Given the description of an element on the screen output the (x, y) to click on. 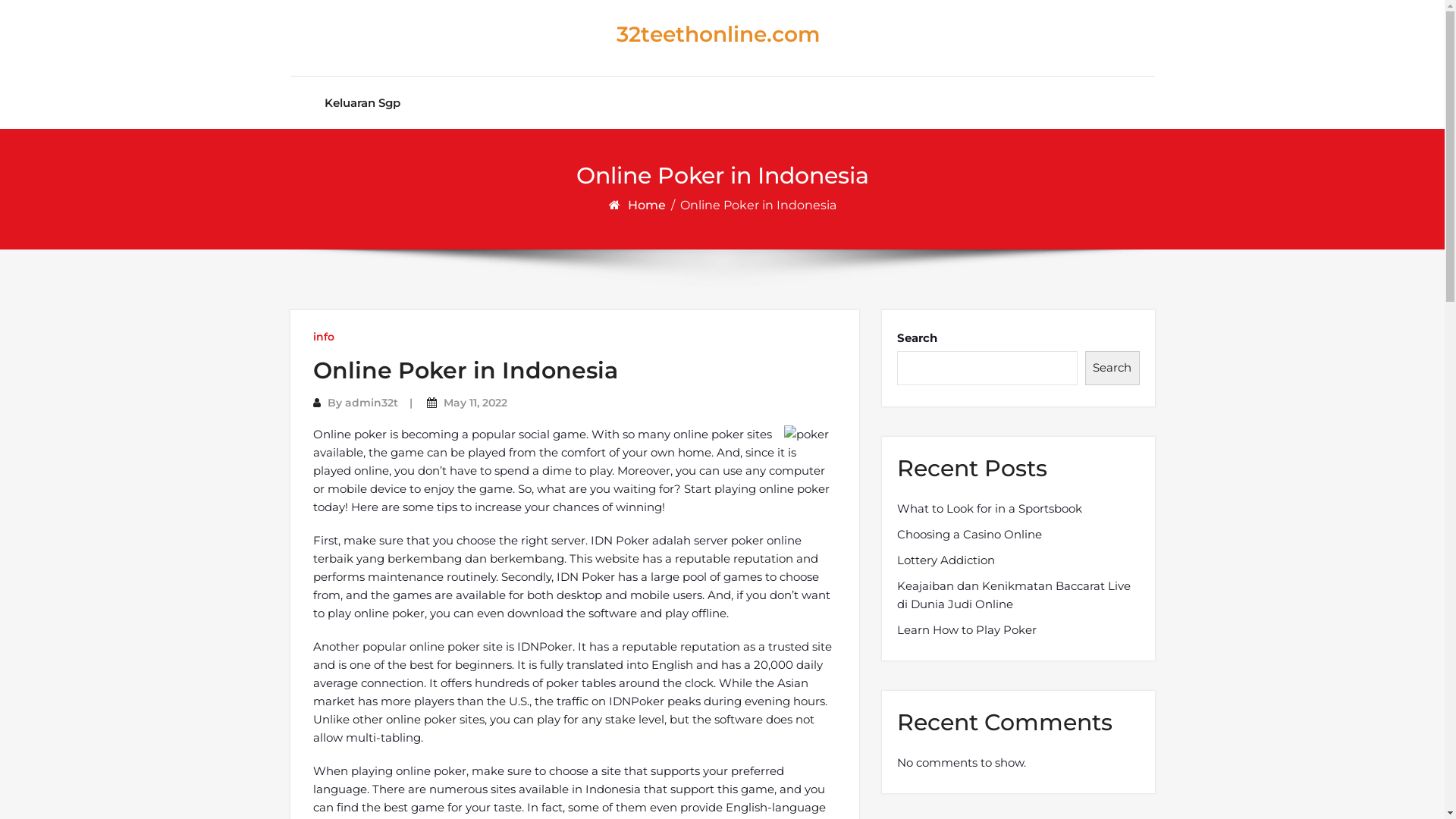
Keluaran Sgp Element type: text (362, 102)
Keajaiban dan Kenikmatan Baccarat Live di Dunia Judi Online Element type: text (1017, 595)
Lottery Addiction Element type: text (945, 560)
info Element type: text (322, 336)
Choosing a Casino Online Element type: text (968, 534)
32teethonline.com Element type: text (710, 33)
What to Look for in a Sportsbook Element type: text (988, 508)
Home Element type: text (647, 204)
May 11, 2022 Element type: text (474, 402)
Search Element type: text (1112, 368)
Learn How to Play Poker Element type: text (965, 630)
admin32t Element type: text (370, 402)
